Given the description of an element on the screen output the (x, y) to click on. 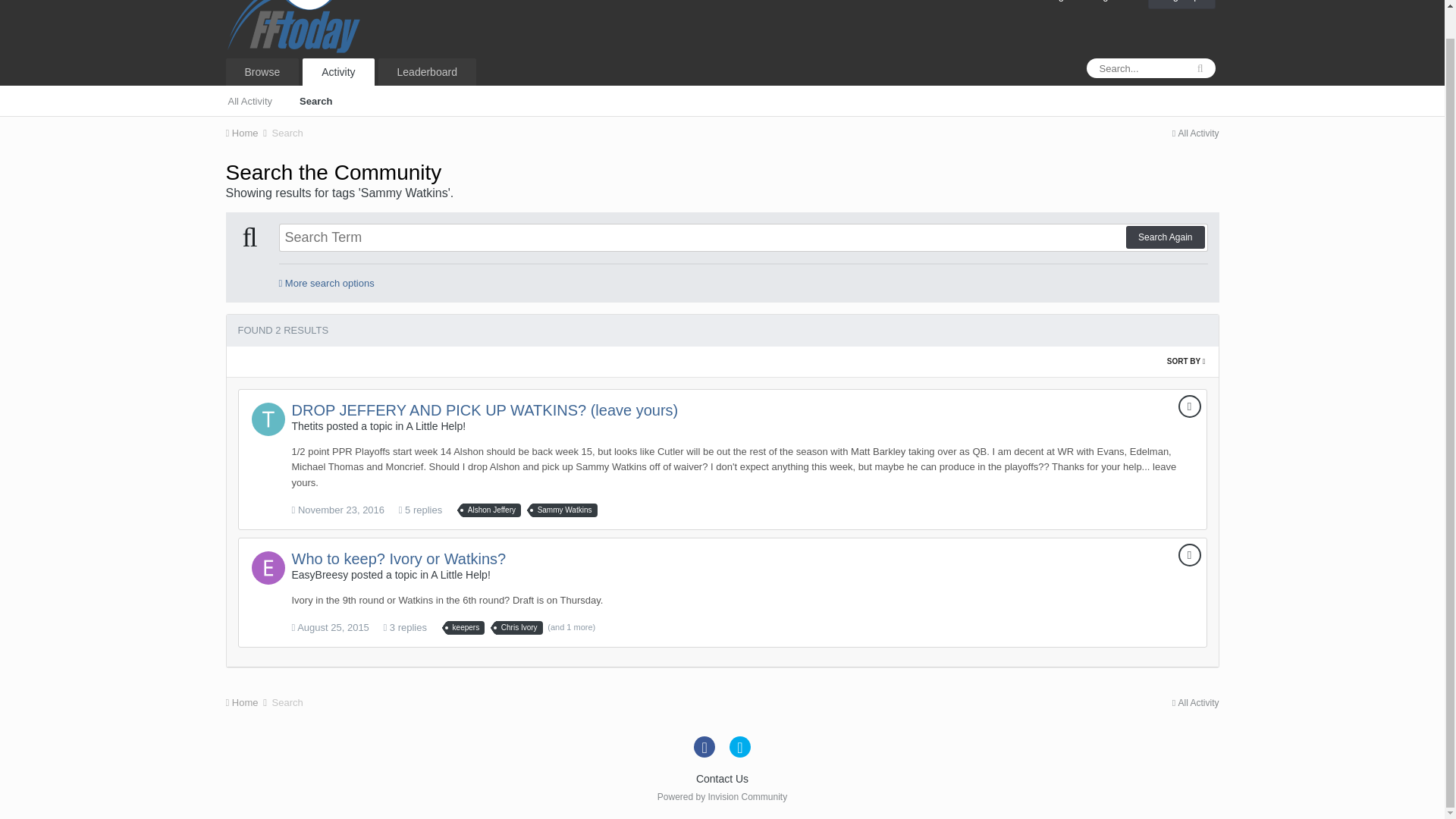
Go to Thetits's profile (268, 418)
All Activity (249, 99)
Find other content tagged with 'Chris Ivory' (519, 627)
Activity (338, 71)
Topic (1189, 554)
Home (247, 132)
Topic (1189, 405)
Search (287, 132)
Invision Community (722, 796)
More search options (326, 283)
